Given the description of an element on the screen output the (x, y) to click on. 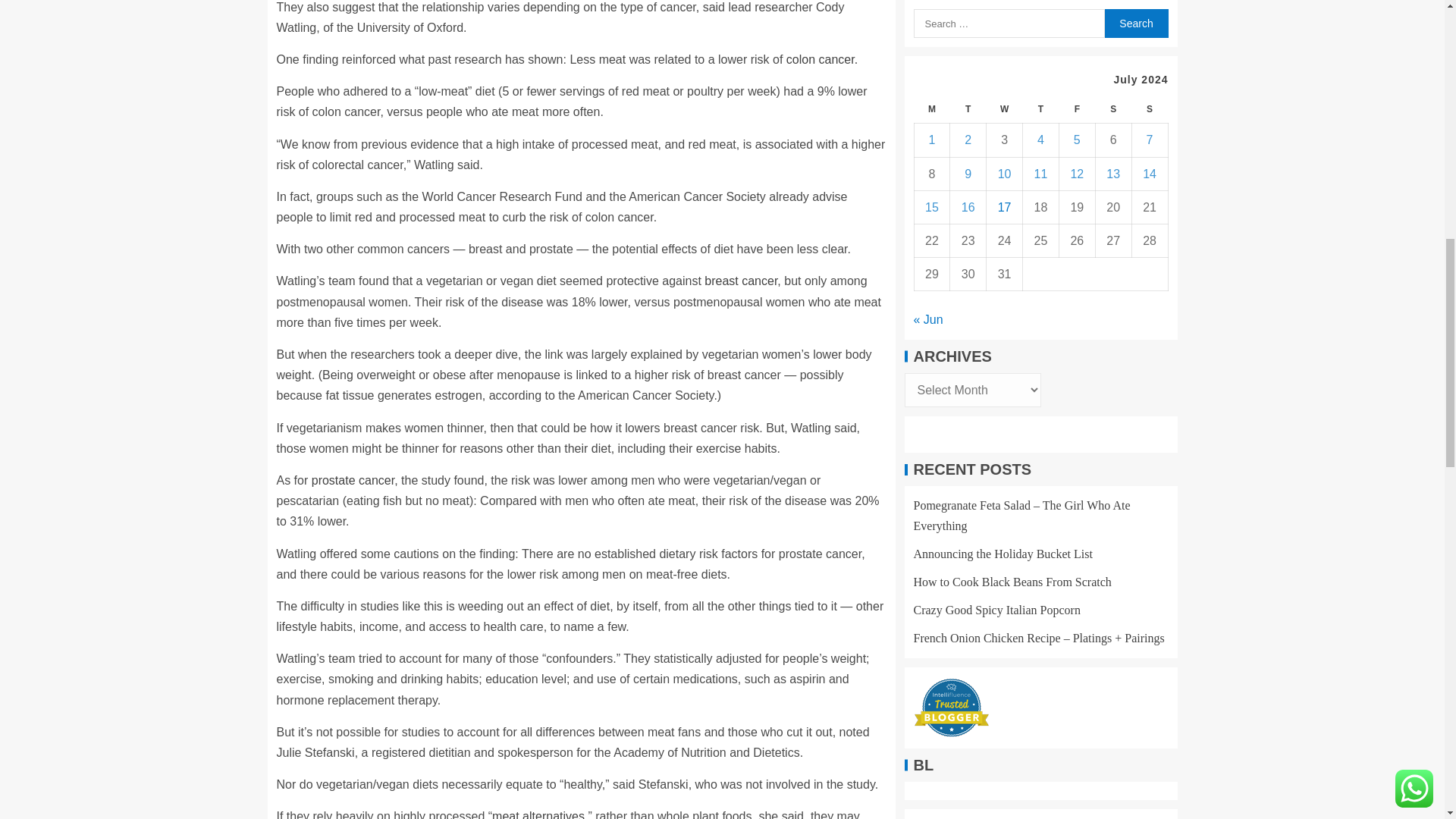
meat alternatives (538, 814)
colon cancer. (821, 59)
prostate cancer (352, 480)
breast cancer (740, 280)
